Given the description of an element on the screen output the (x, y) to click on. 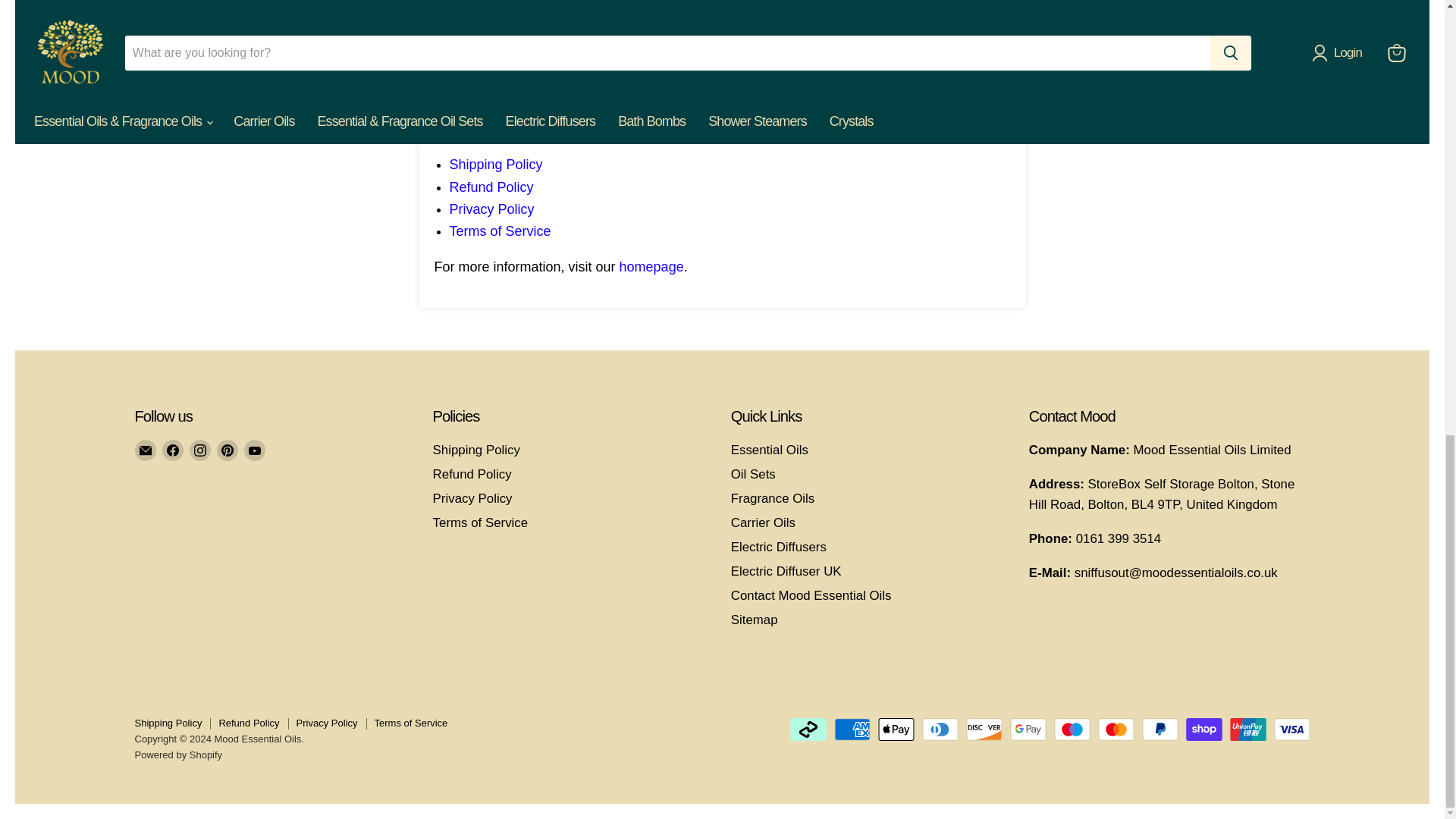
Clearpay (808, 729)
Diners Club (939, 729)
Pinterest (227, 450)
Email (145, 450)
Discover (984, 729)
American Express (852, 729)
Instagram (200, 450)
YouTube (254, 450)
Apple Pay (895, 729)
Facebook (172, 450)
